Given the description of an element on the screen output the (x, y) to click on. 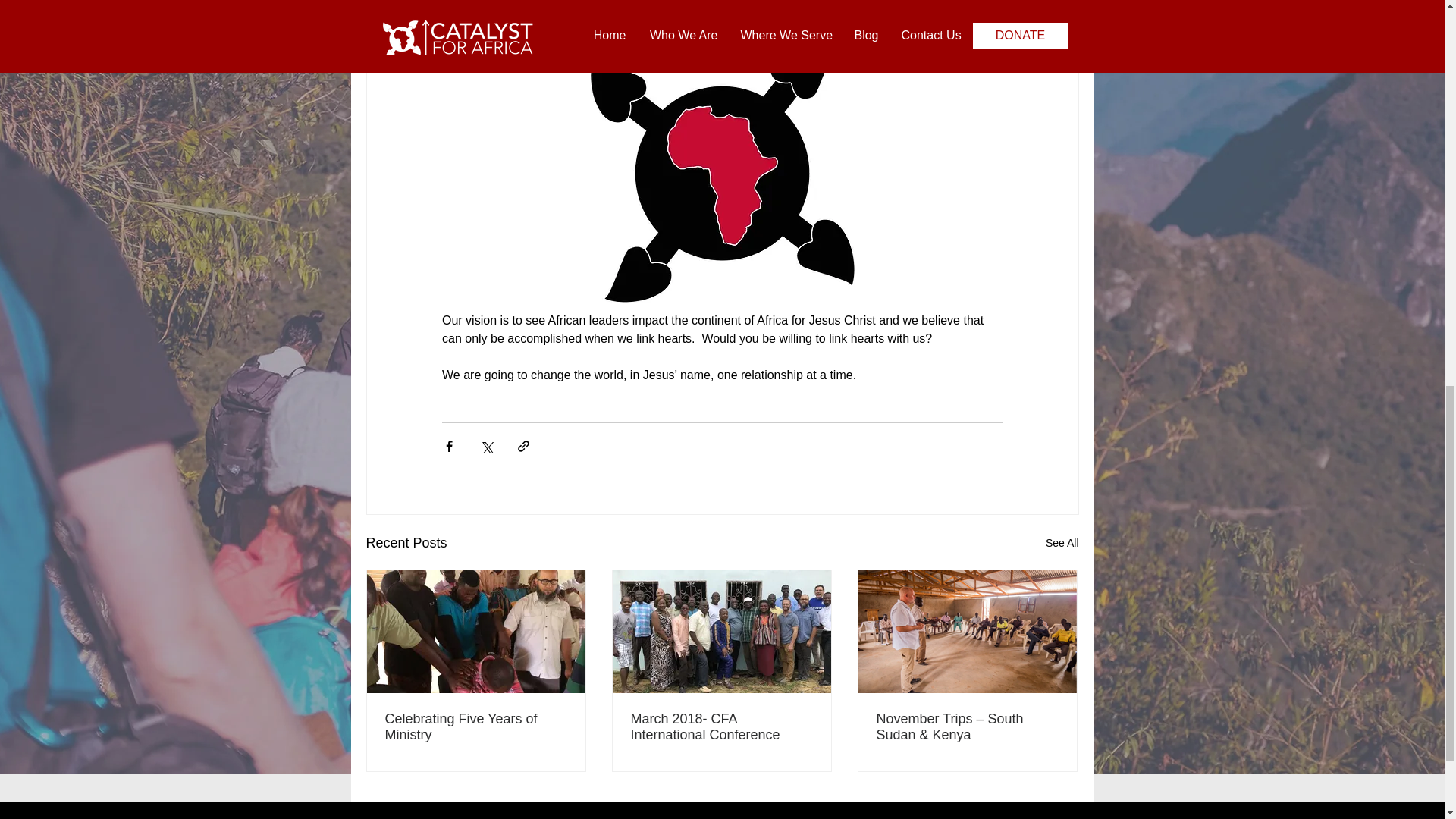
March 2018- CFA International Conference (721, 726)
See All (1061, 543)
Celebrating Five Years of Ministry (476, 726)
